Given the description of an element on the screen output the (x, y) to click on. 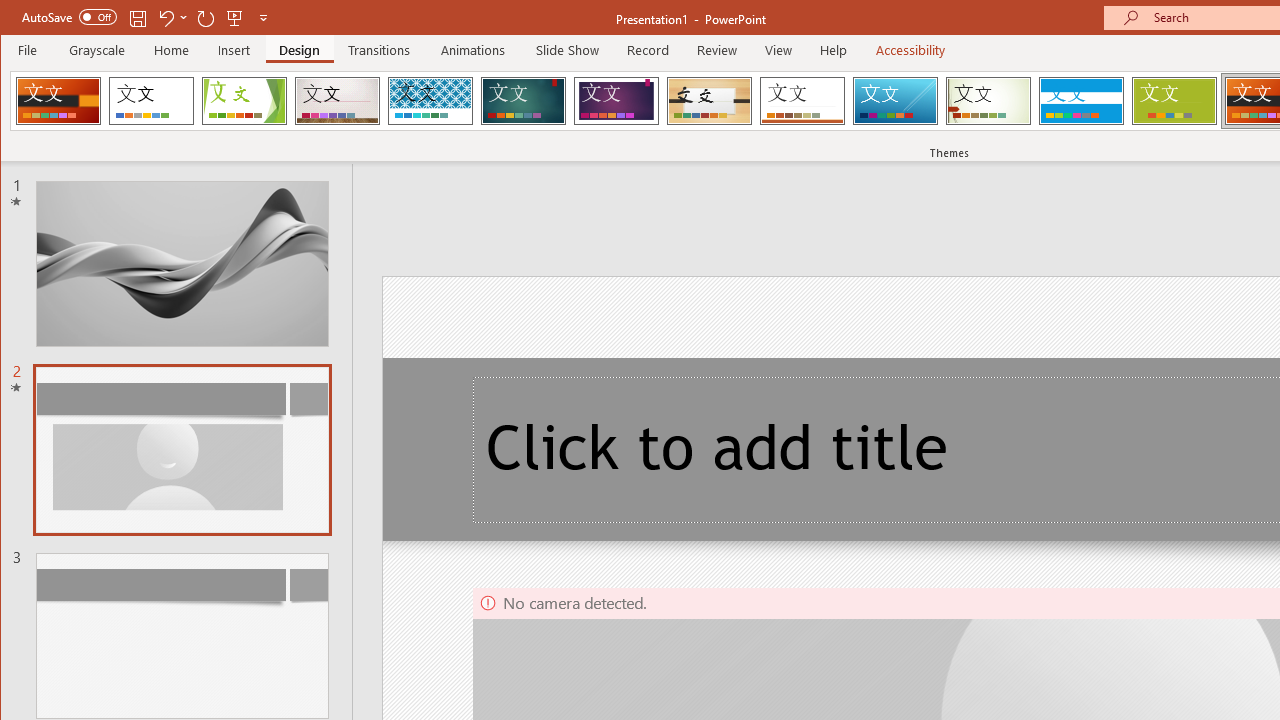
Banded (1081, 100)
Berlin (57, 100)
Ion Boardroom (616, 100)
Integral (430, 100)
Basis (1174, 100)
Grayscale (97, 50)
Facet (244, 100)
Office Theme (151, 100)
